Given the description of an element on the screen output the (x, y) to click on. 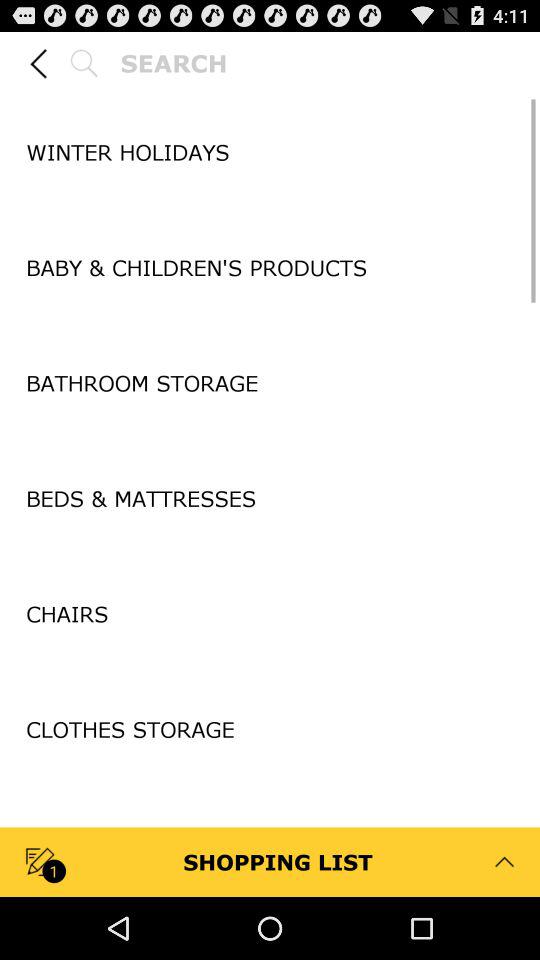
jump to the bathroom storage app (270, 382)
